Given the description of an element on the screen output the (x, y) to click on. 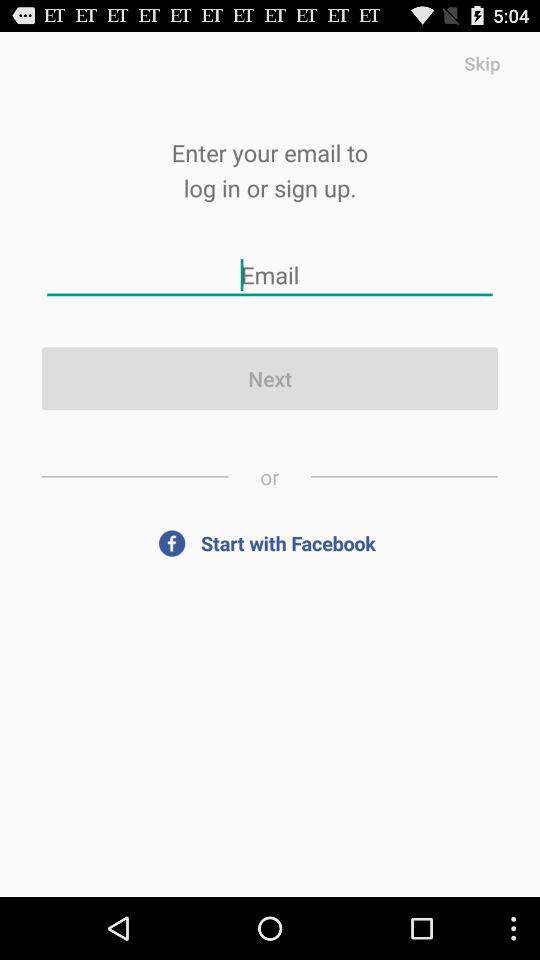
turn on item at the top right corner (482, 62)
